Given the description of an element on the screen output the (x, y) to click on. 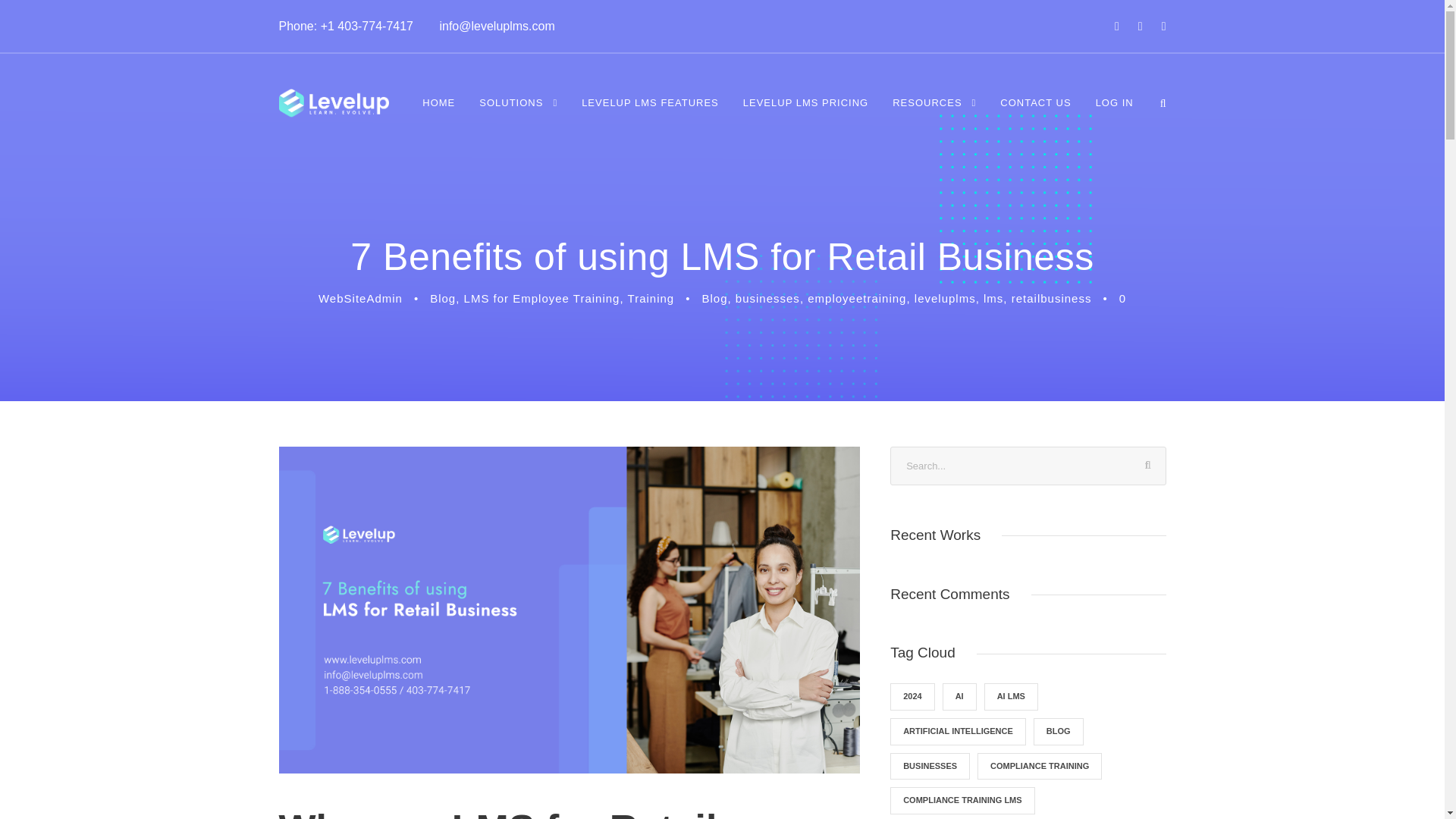
SOLUTIONS (518, 113)
Blog (442, 297)
leveluplms (944, 297)
employeetraining (856, 297)
RESOURCES (933, 113)
lms (993, 297)
retailbusiness (1051, 297)
WebSiteAdmin (360, 297)
Blog (713, 297)
businesses (767, 297)
Levelup LMS Logo White (333, 102)
Posts by WebSiteAdmin (360, 297)
Training (651, 297)
LEVELUP LMS PRICING (804, 113)
CONTACT US (1035, 113)
